Given the description of an element on the screen output the (x, y) to click on. 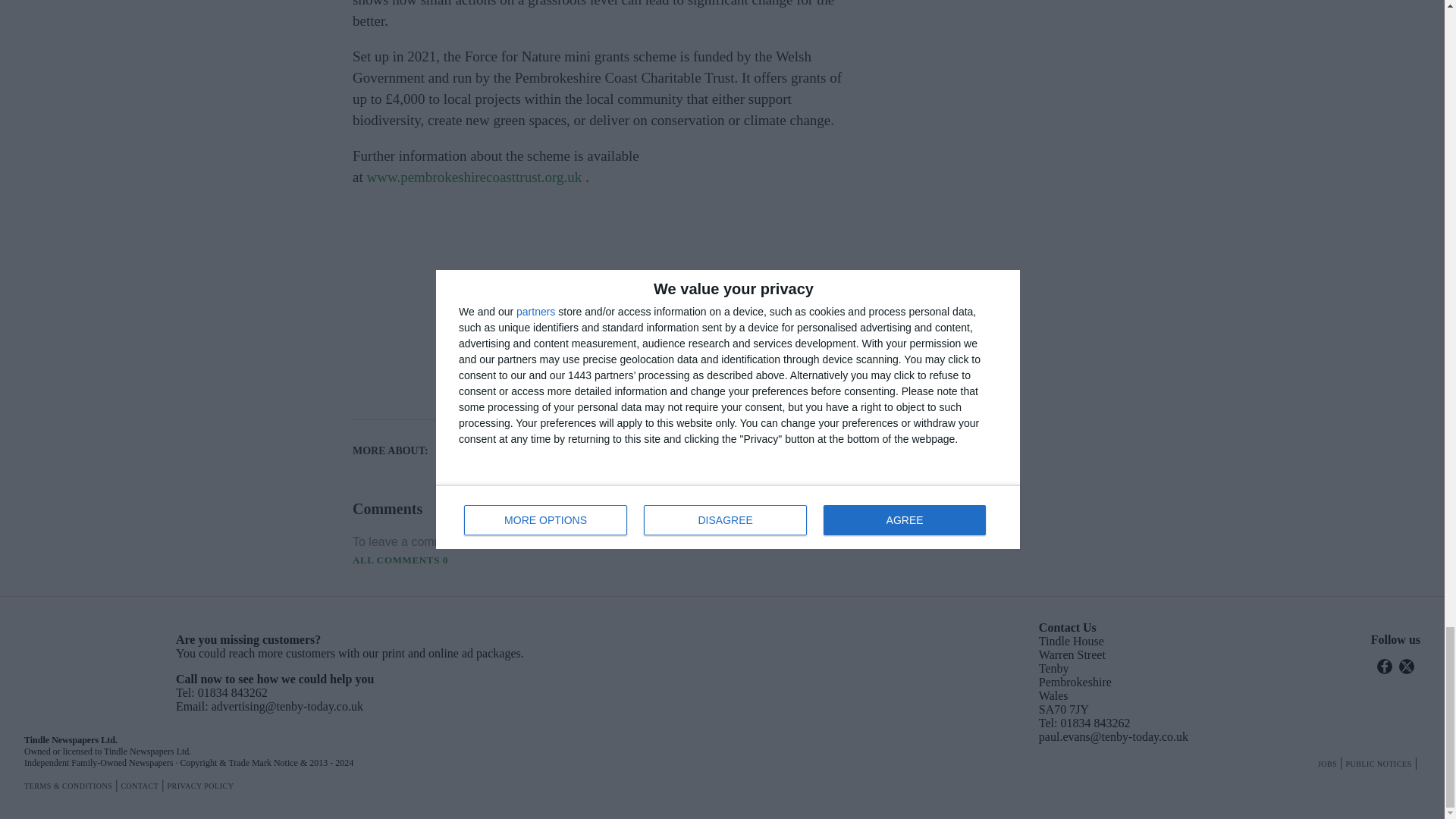
Climate Change (615, 440)
www.pembrokeshirecoasttrust.org.uk (473, 176)
Grants (502, 460)
Biodiversity (502, 440)
